Given the description of an element on the screen output the (x, y) to click on. 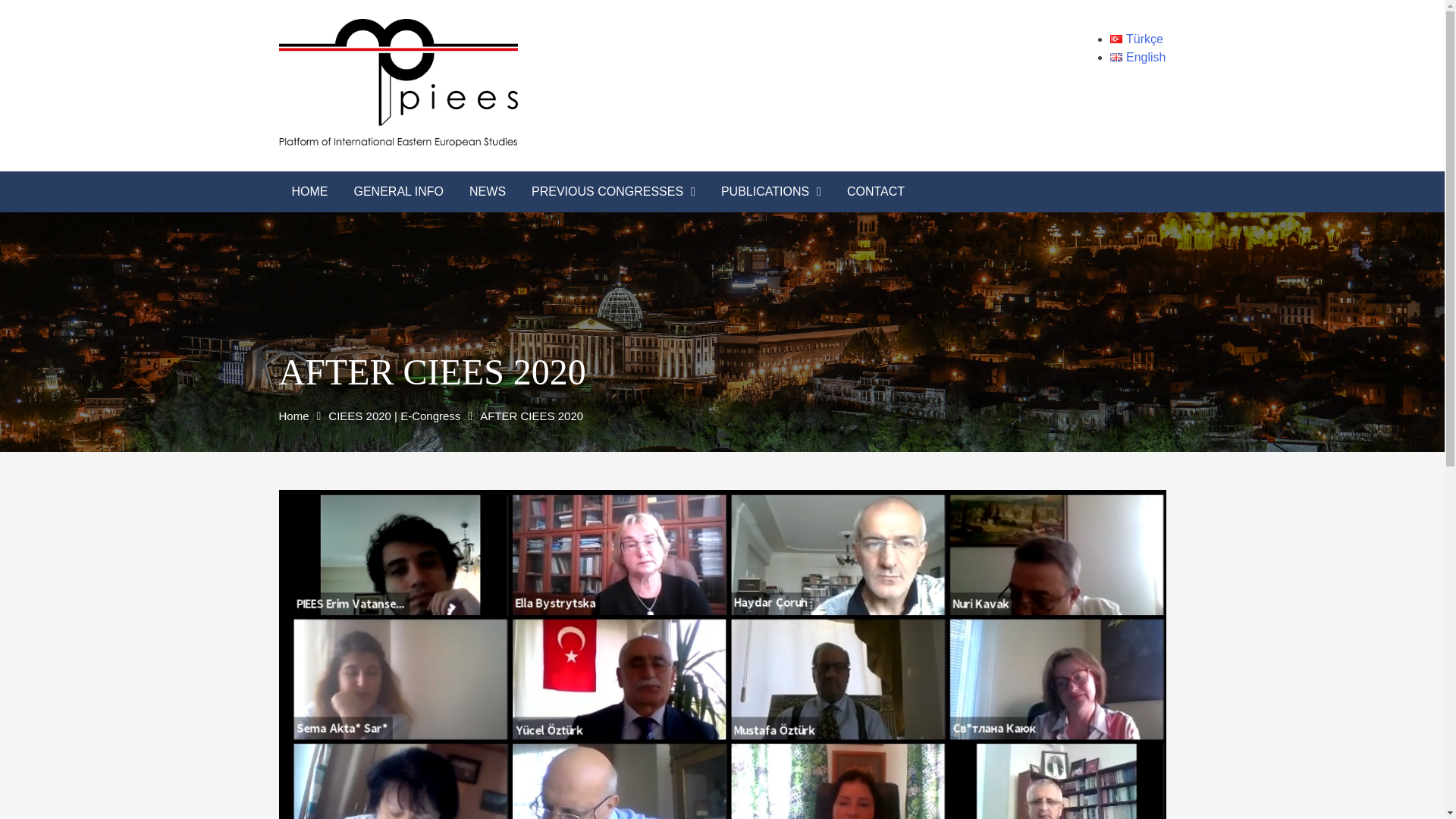
English (1137, 56)
HOME (309, 191)
GENERAL INFO (398, 191)
PREVIOUS CONGRESSES (612, 191)
NEWS (487, 191)
PIEES (678, 96)
